Given the description of an element on the screen output the (x, y) to click on. 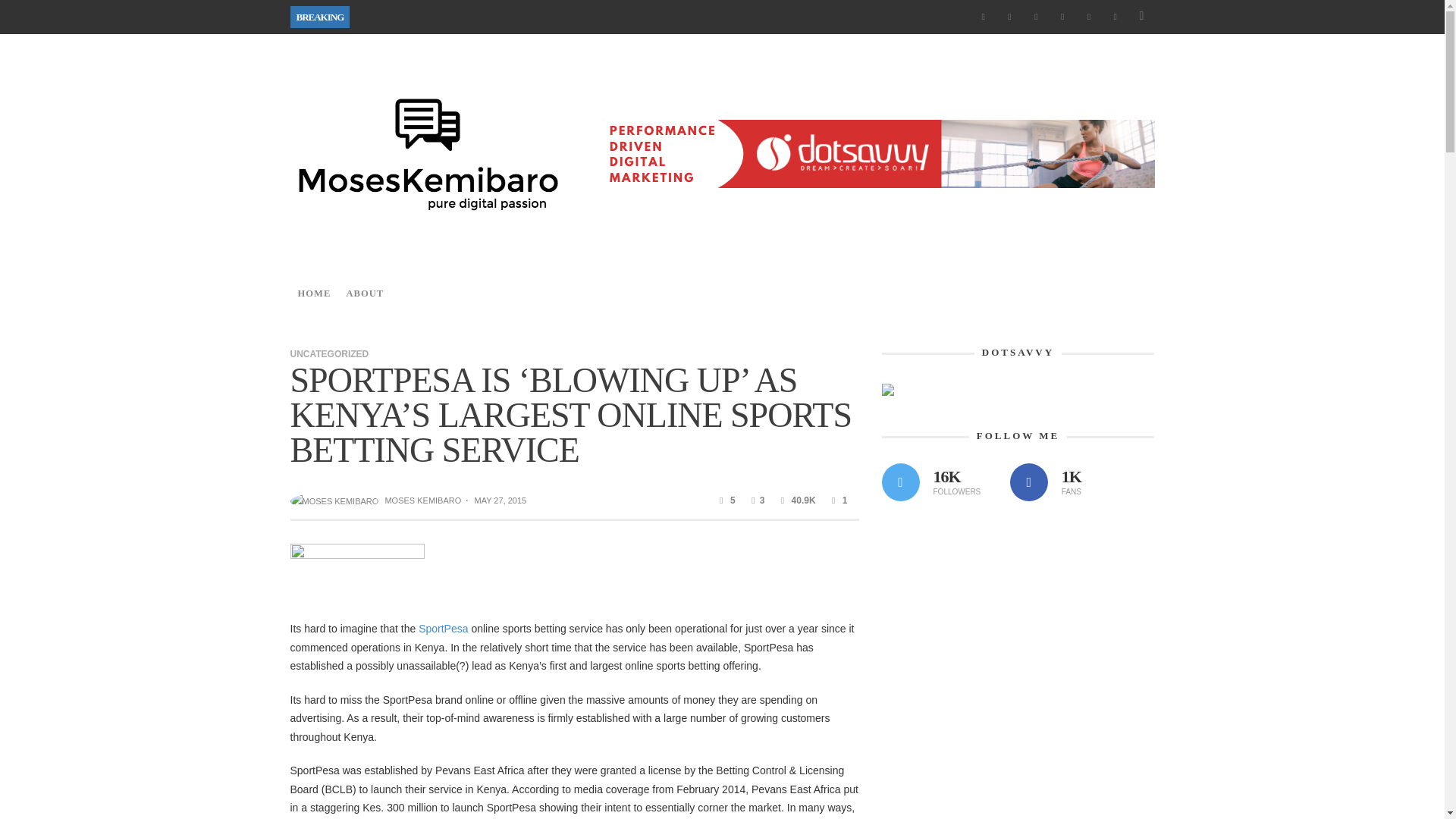
Instagram (1035, 16)
1 (837, 500)
Youtube (1114, 16)
LinkedIn (1062, 16)
View all posts by Moses Kemibaro (422, 500)
HOME (313, 293)
Facebook (983, 16)
MAY 27, 2015 (499, 500)
Posts by Moses Kemibaro (335, 500)
View all posts in Uncategorized (328, 353)
